Given the description of an element on the screen output the (x, y) to click on. 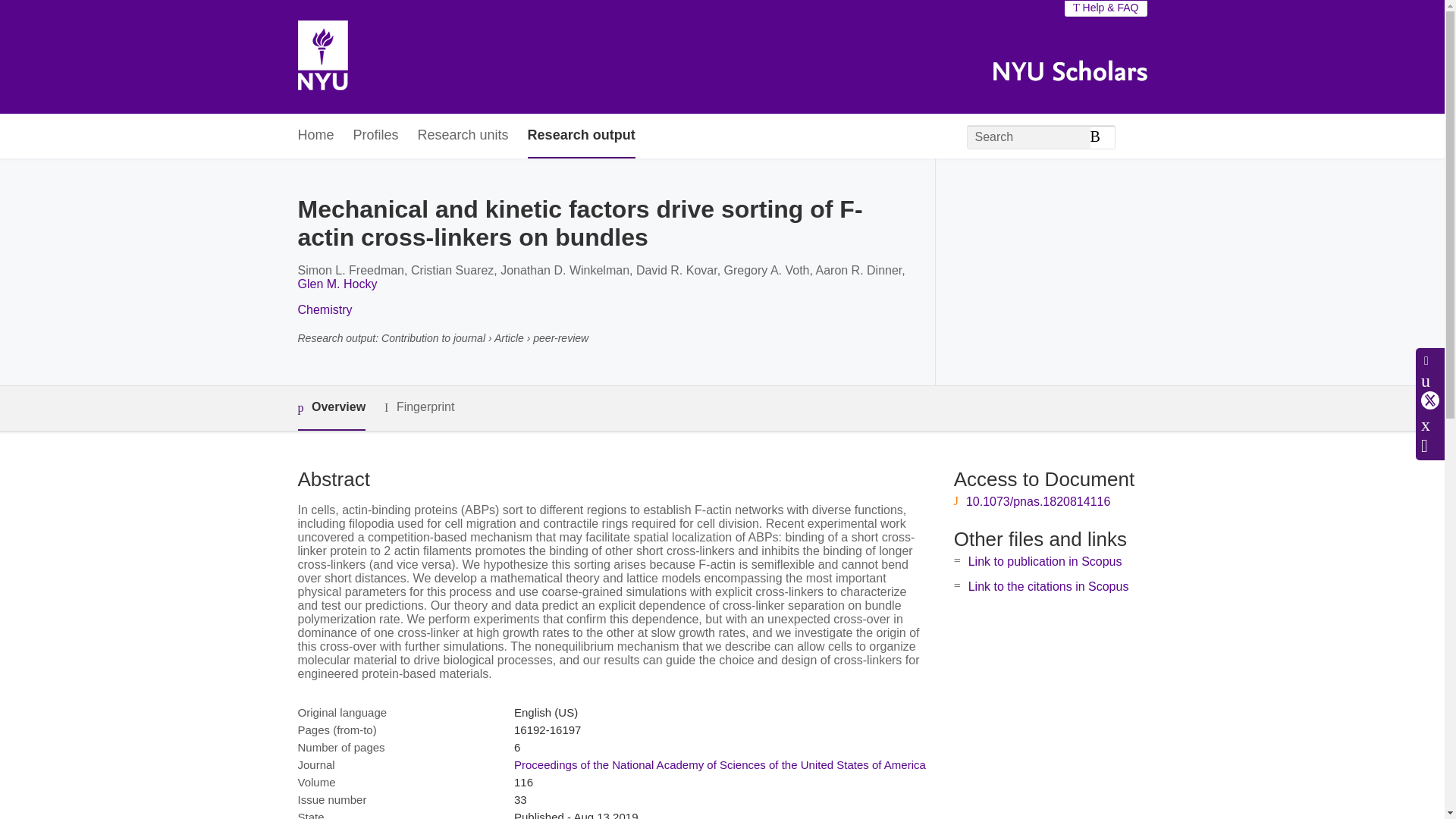
Link to the citations in Scopus (1048, 585)
Fingerprint (419, 407)
Overview (331, 407)
Chemistry (324, 309)
Profiles (375, 135)
Research output (580, 135)
Glen M. Hocky (337, 283)
Research units (462, 135)
Link to publication in Scopus (1045, 561)
